Given the description of an element on the screen output the (x, y) to click on. 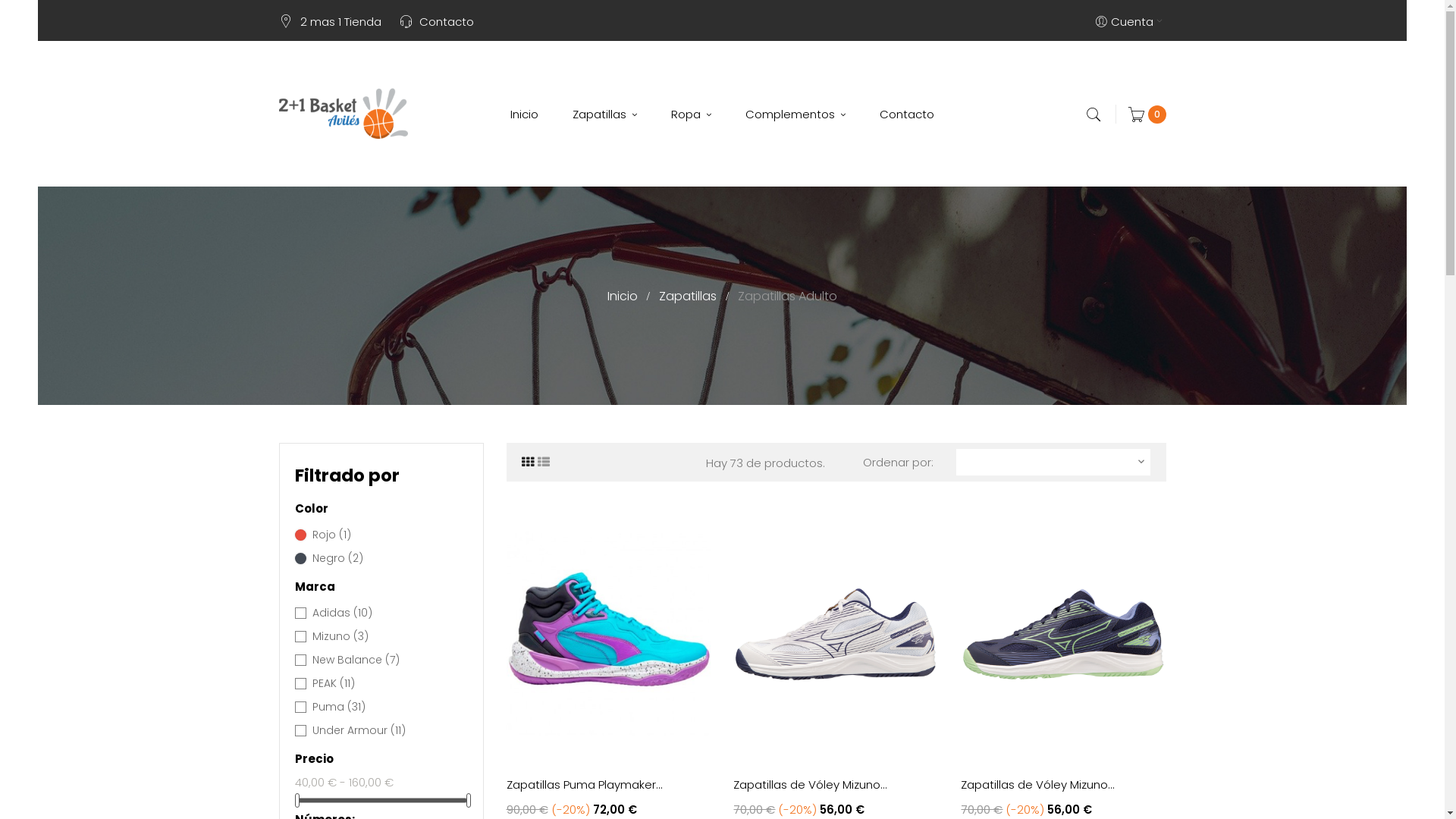
PEAK (11) Element type: text (387, 683)
Inicio Element type: text (524, 113)
New Balance (7) Element type: text (387, 660)
Negro (2) Element type: text (387, 558)
Lista Element type: hover (542, 461)
2 mas 1 Basket Element type: hover (343, 113)
Cuenta Element type: text (1129, 20)
Inicio Element type: text (623, 295)
Zapatillas Puma Playmaker... Element type: text (608, 784)
Zapatillas Element type: text (688, 295)
Mizuno (3) Element type: text (387, 636)
Ropa Element type: text (691, 113)
Rojo (1) Element type: text (387, 534)
Complementos Element type: text (795, 113)
2 mas 1 Tienda Element type: text (340, 21)
Zapatillas Element type: text (604, 113)
Puma (31) Element type: text (387, 707)
Under Armour (11) Element type: text (387, 730)
Adidas (10) Element type: text (387, 613)
Contacto Element type: text (445, 21)
Contacto Element type: text (906, 113)
